Given the description of an element on the screen output the (x, y) to click on. 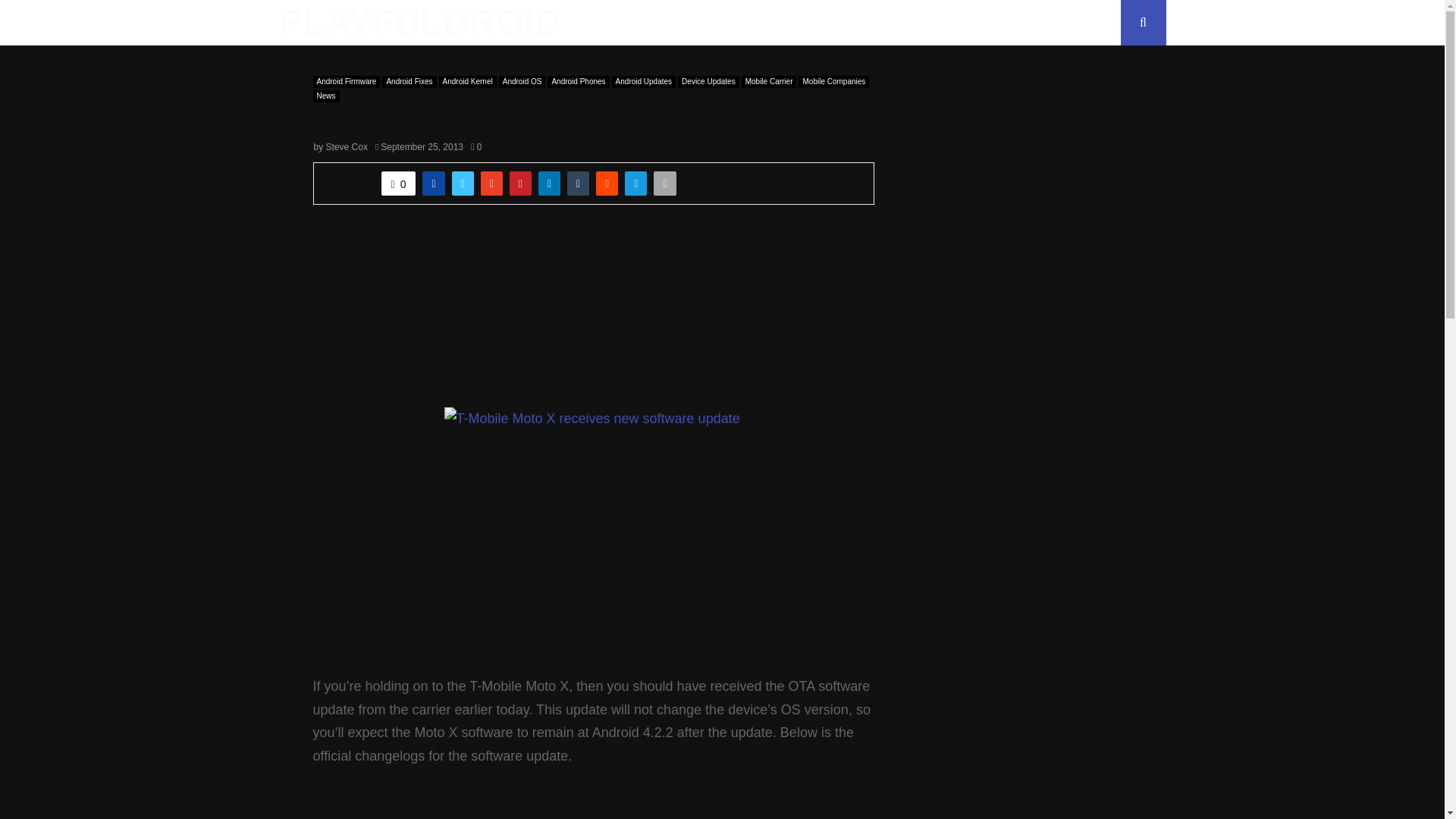
PLAYFULDROID (419, 22)
Android Fixes (408, 81)
Like (398, 183)
NEWS (679, 22)
Android Kernel (467, 81)
MOBILE PRICE (760, 22)
Steve Cox (347, 146)
Moto X Leaked (593, 540)
Advertisement (1017, 170)
News (326, 96)
